Given the description of an element on the screen output the (x, y) to click on. 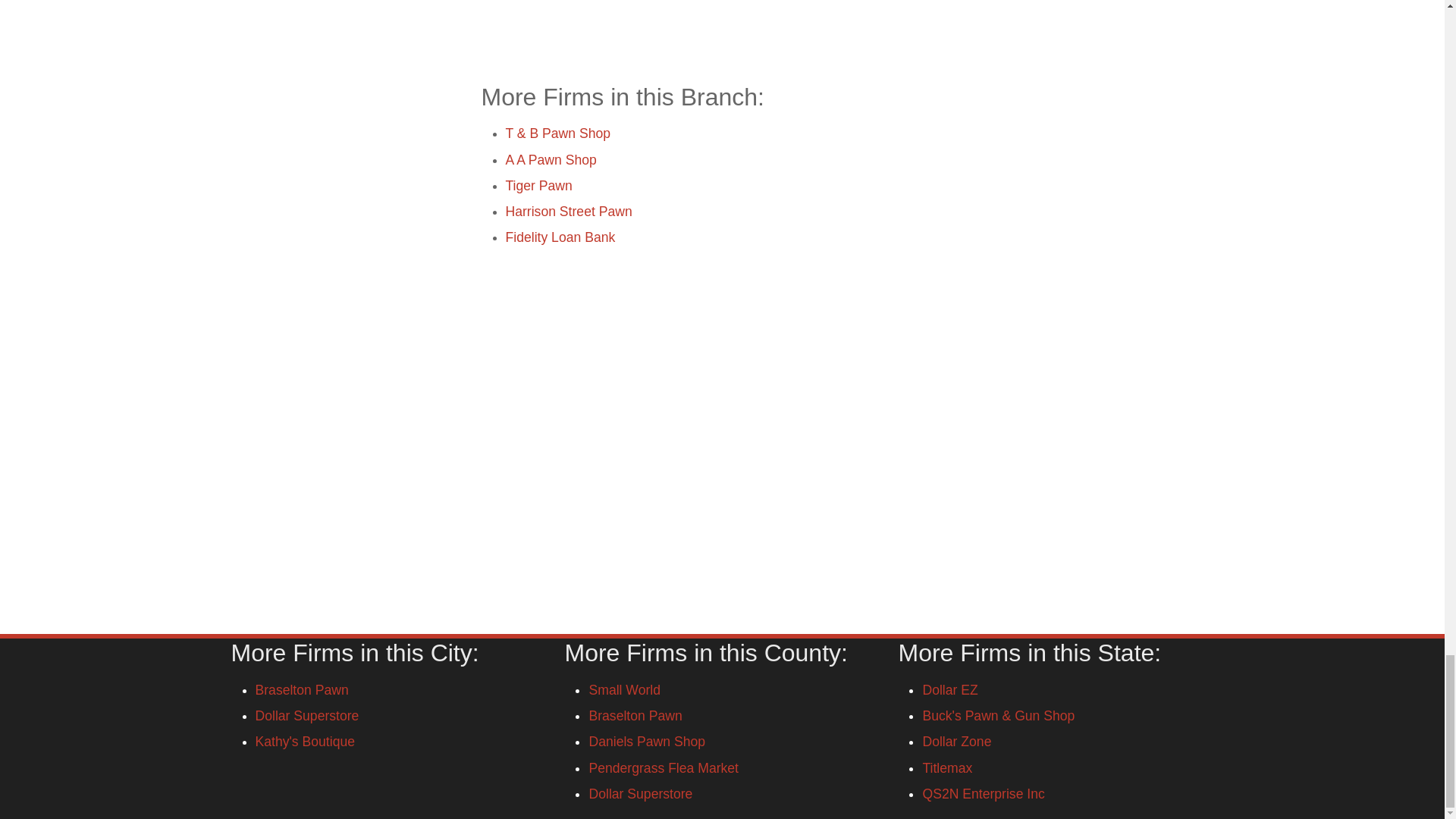
Fidelity Loan Bank (559, 237)
A A Pawn Shop (550, 159)
Tiger Pawn (538, 185)
Harrison Street Pawn (568, 211)
